Given the description of an element on the screen output the (x, y) to click on. 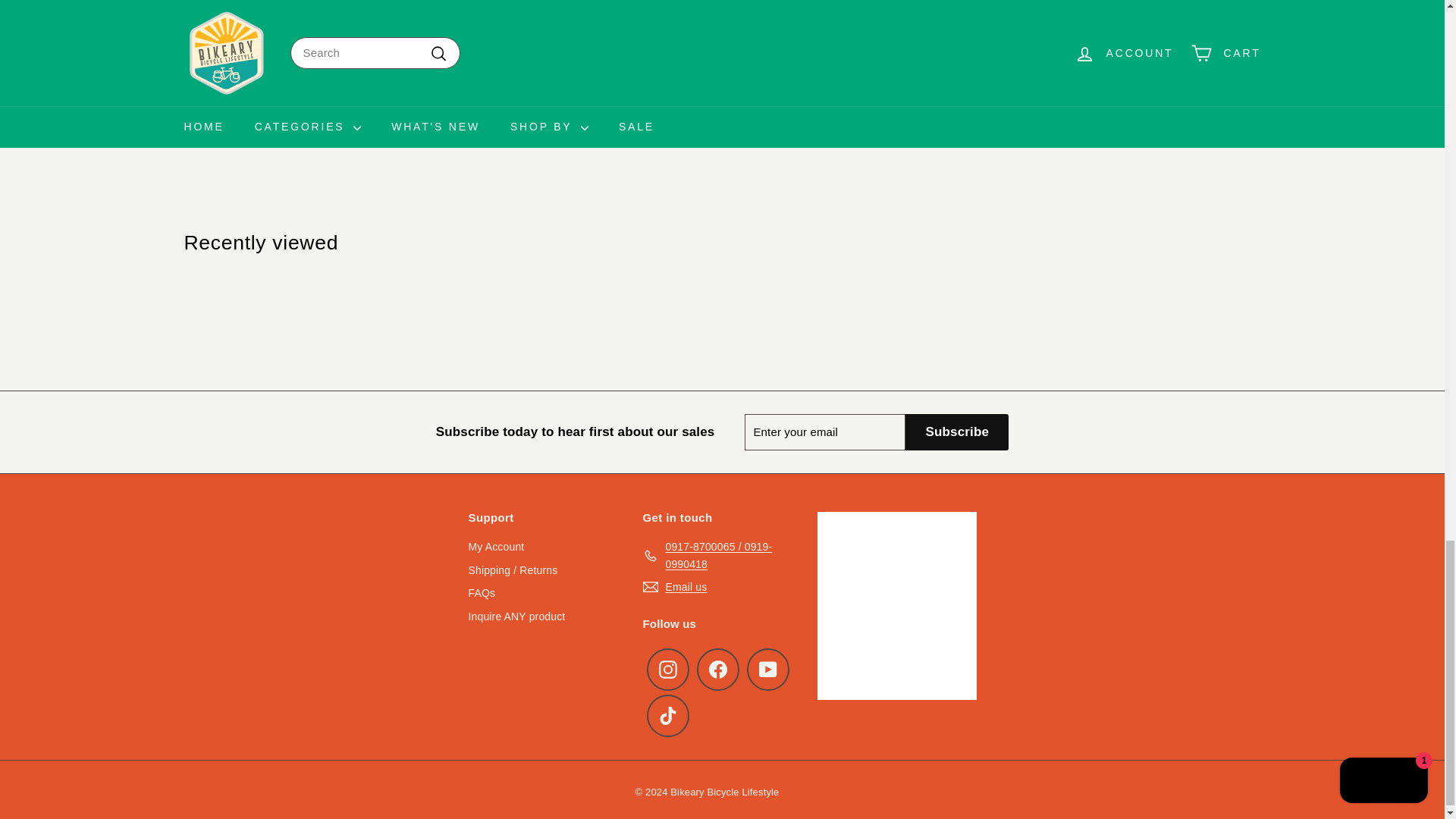
instagram (667, 669)
Bikeary Bicycle Lifestyle on TikTok (667, 715)
Bikeary Bicycle Lifestyle on Instagram (667, 669)
Bikeary Bicycle Lifestyle on Facebook (716, 669)
Bikeary Bicycle Lifestyle on YouTube (767, 669)
